Given the description of an element on the screen output the (x, y) to click on. 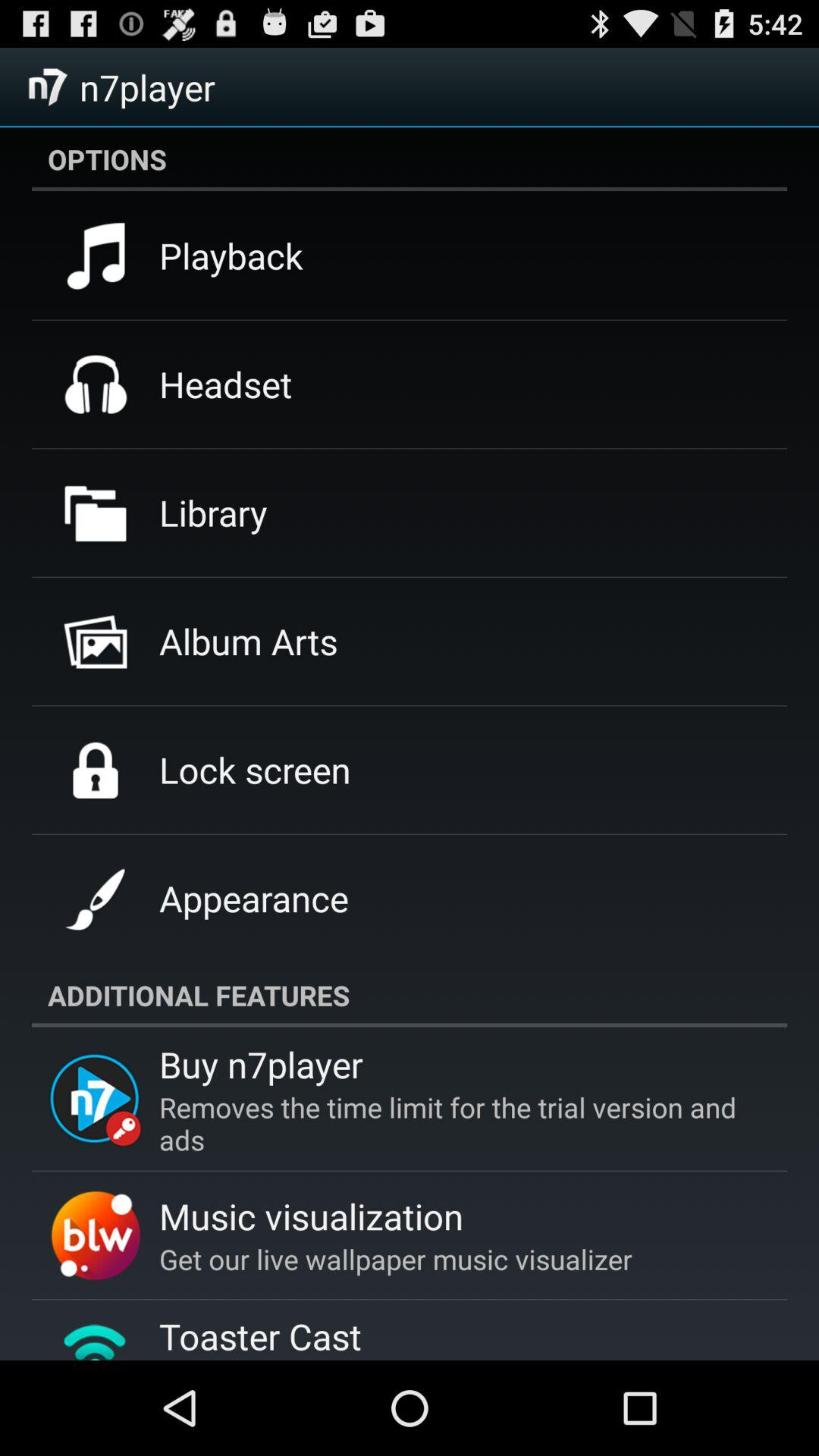
select app above appearance app (254, 769)
